Given the description of an element on the screen output the (x, y) to click on. 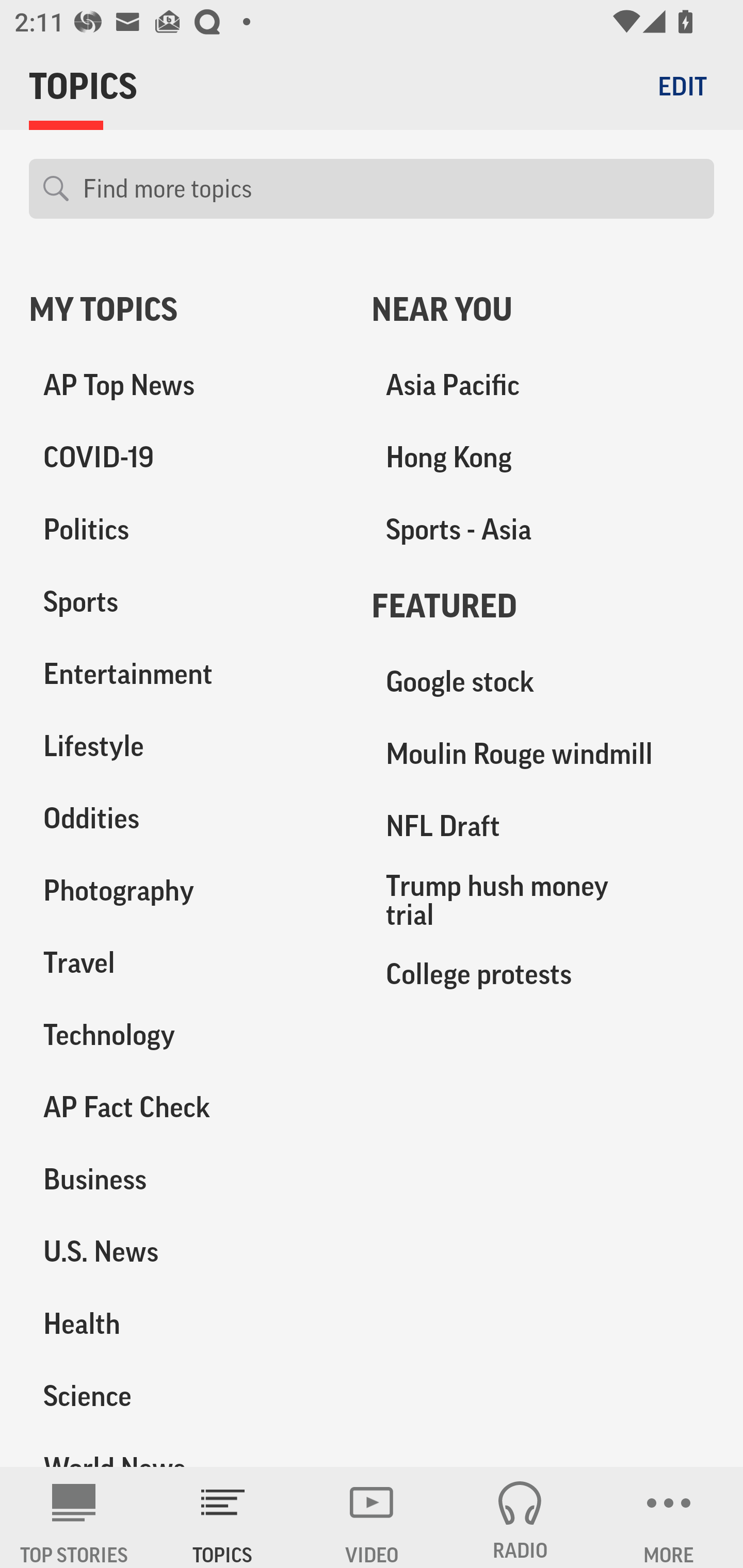
EDIT (682, 86)
Find more topics (391, 188)
AP Top News (185, 385)
Asia Pacific (542, 385)
COVID-19 (185, 457)
Hong Kong (542, 457)
Politics (185, 529)
Sports - Asia (542, 529)
Sports (185, 602)
Entertainment (185, 674)
Google stock (542, 682)
Lifestyle (185, 746)
Moulin Rouge windmill (542, 754)
Oddities (185, 818)
NFL Draft (542, 826)
Photography (185, 890)
Trump hush money trial (542, 899)
Travel (185, 962)
College protests (542, 973)
Technology (185, 1034)
AP Fact Check (185, 1106)
Business (185, 1179)
U.S. News (185, 1251)
Health (185, 1323)
Science (185, 1395)
AP News TOP STORIES (74, 1517)
TOPICS (222, 1517)
VIDEO (371, 1517)
RADIO (519, 1517)
MORE (668, 1517)
